Given the description of an element on the screen output the (x, y) to click on. 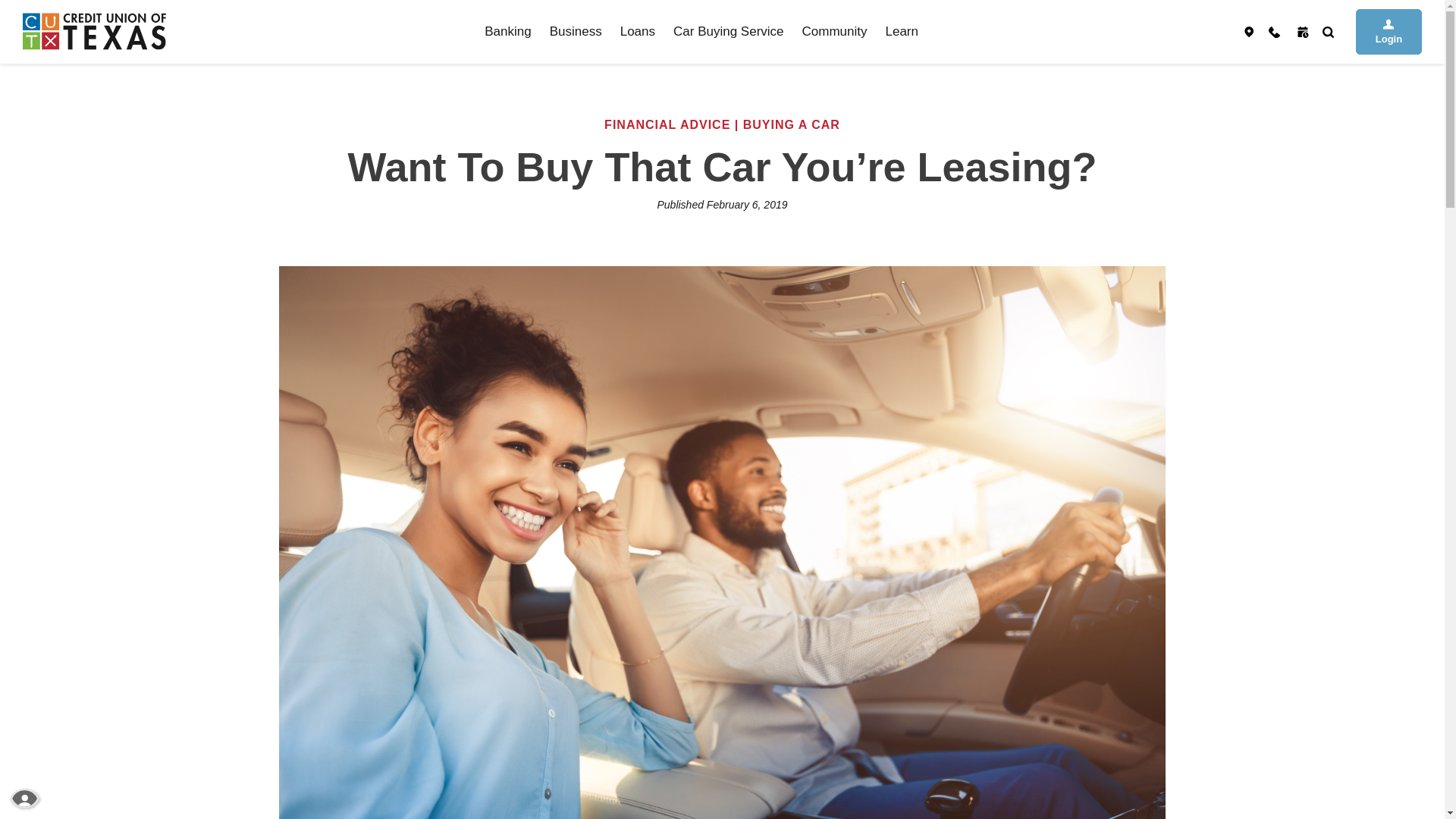
Search (1328, 31)
Locations (1249, 31)
Schedule an Appointment (1303, 31)
Credit Union of Texas, Allen, TX (94, 31)
Contact (1274, 31)
